Given the description of an element on the screen output the (x, y) to click on. 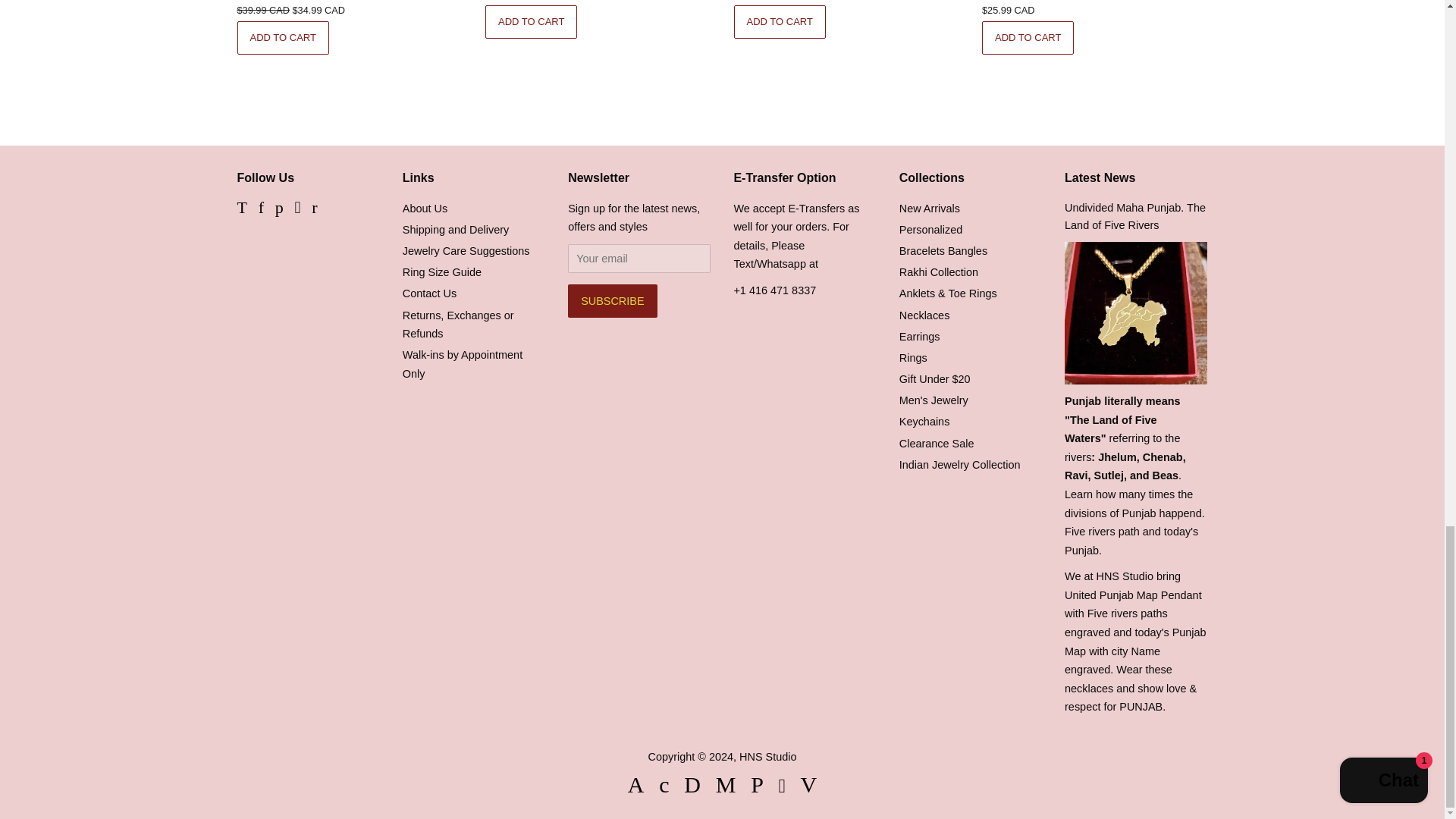
HNS Studio on RSS (314, 209)
Add to cart (1027, 37)
HNS Studio on Twitter (240, 209)
Subscribe (611, 300)
Add to cart (779, 21)
HNS Studio on Instagram (296, 209)
Add to cart (282, 37)
Add to cart (530, 21)
HNS Studio on Pinterest (279, 209)
HNS Studio on Facebook (261, 209)
